Given the description of an element on the screen output the (x, y) to click on. 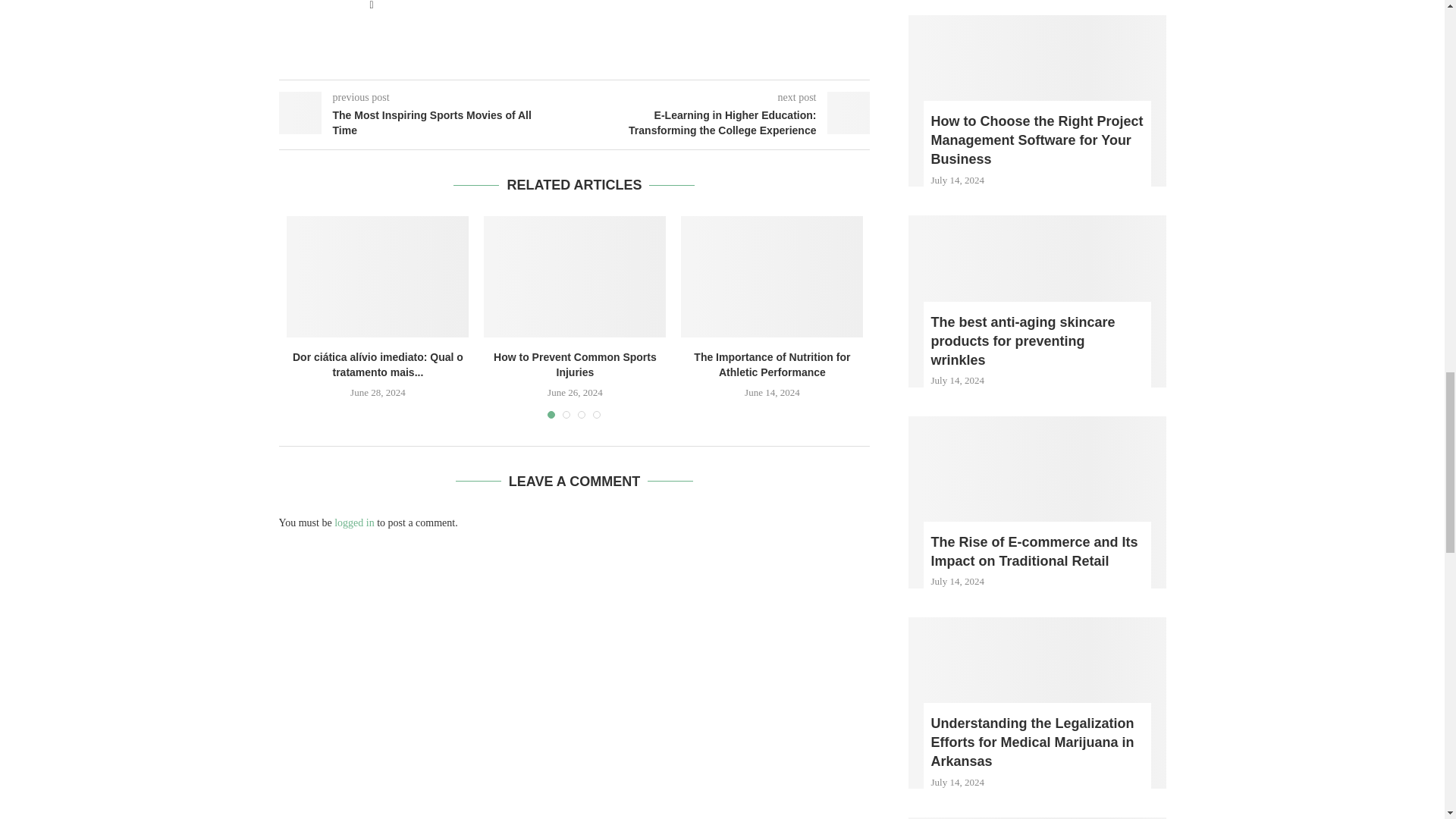
The Importance of Nutrition for Athletic Performance (772, 276)
How to Prevent Common Sports Injuries (574, 276)
